Given the description of an element on the screen output the (x, y) to click on. 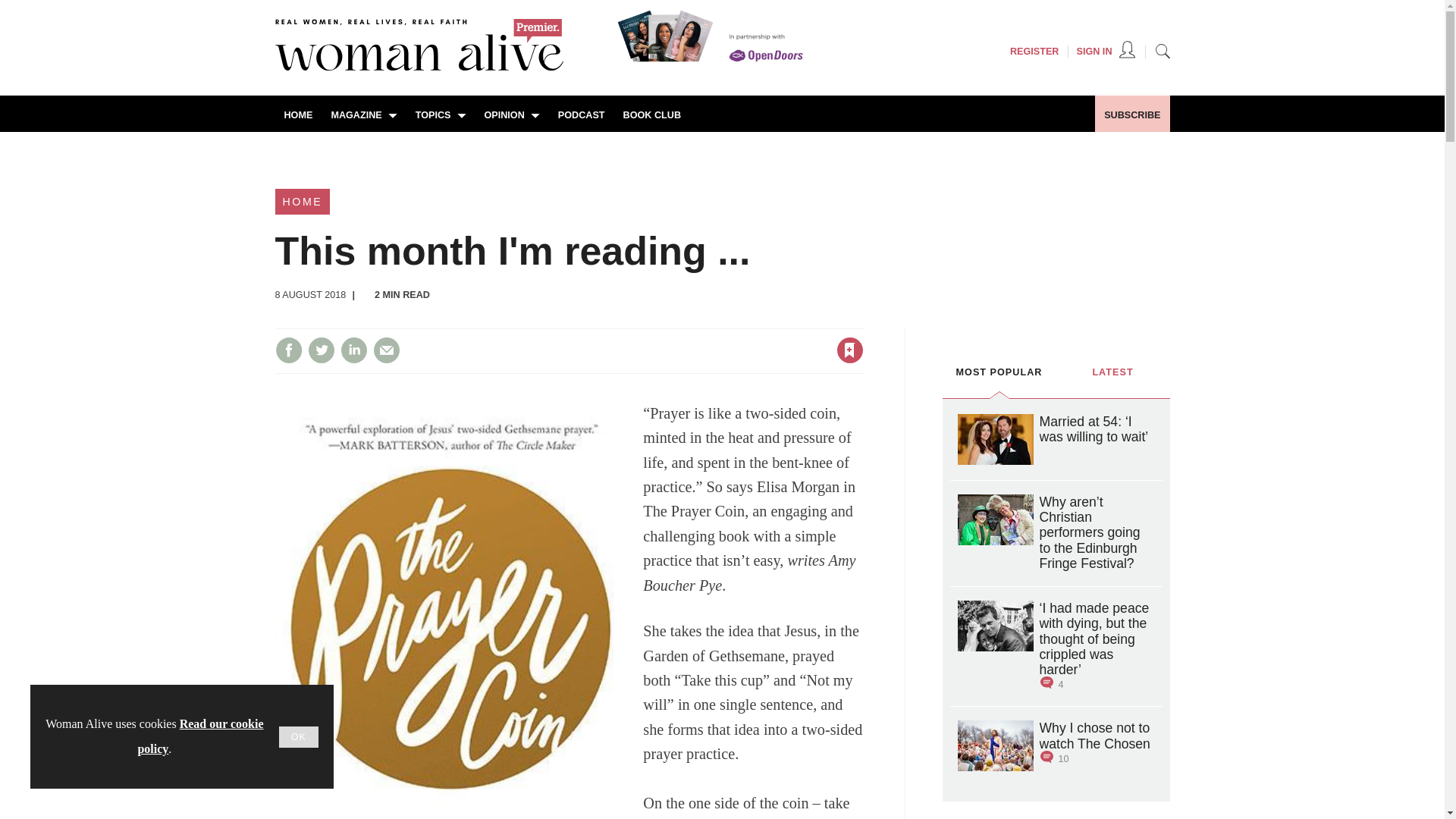
SIGN IN (1106, 51)
Site name (418, 66)
Share this on Linked in (352, 349)
REGISTER (1034, 51)
SEARCH (1161, 50)
OK (298, 736)
Read our cookie policy (199, 735)
Share this on Twitter (320, 349)
Share this on Facebook (288, 349)
Email this article (386, 349)
